Given the description of an element on the screen output the (x, y) to click on. 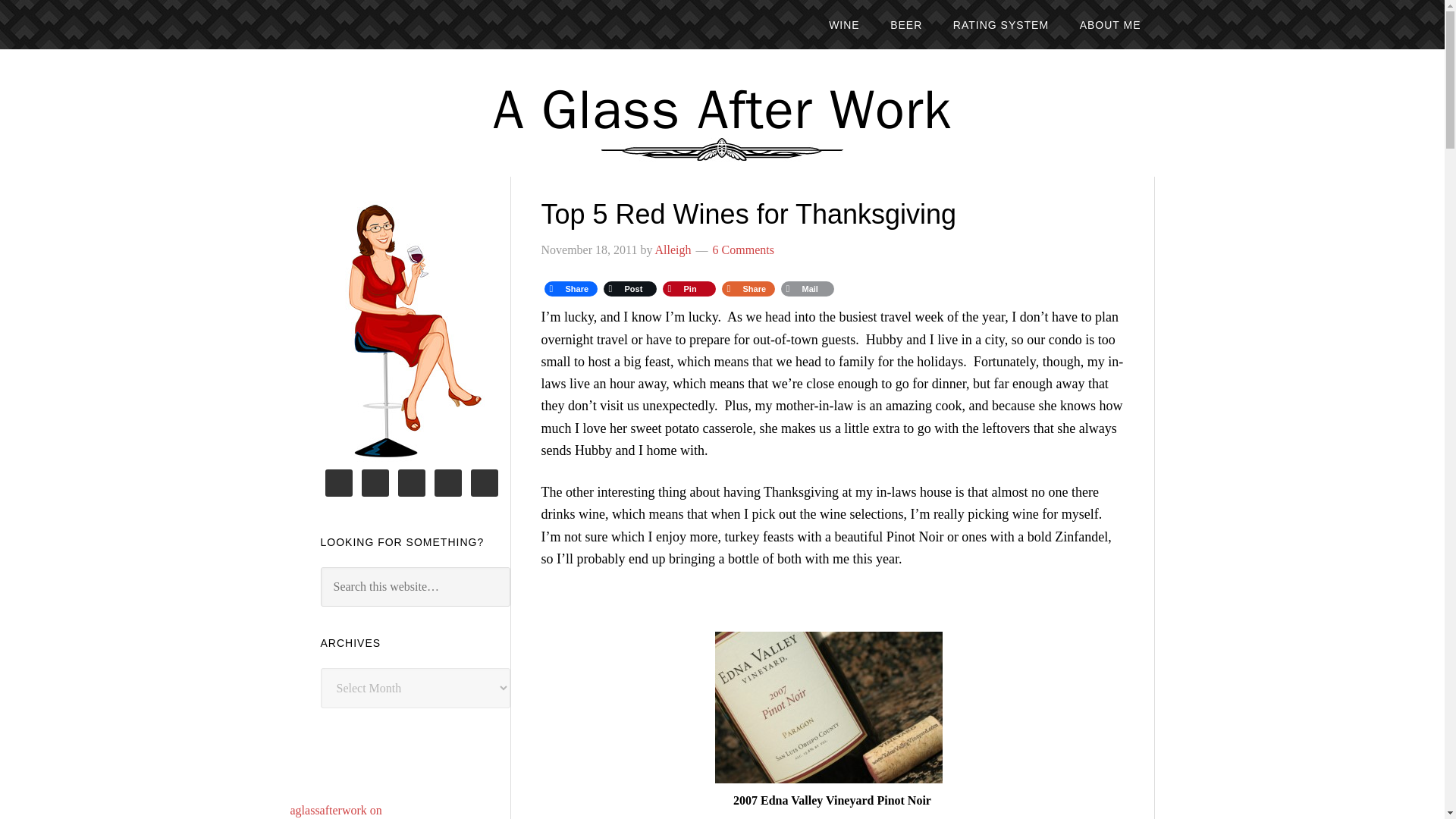
ABOUT ME (1109, 24)
Facebook (570, 288)
A Glass After Work (722, 110)
2007 Edna Valley Vineyard Pinot Noir (828, 706)
Pinterest (689, 288)
Alleigh (673, 249)
6 Comments (743, 249)
Email This (807, 288)
RATING SYSTEM (1000, 24)
BEER (906, 24)
A Glass After Work (722, 110)
Yummly (748, 288)
WINE (844, 24)
